Given the description of an element on the screen output the (x, y) to click on. 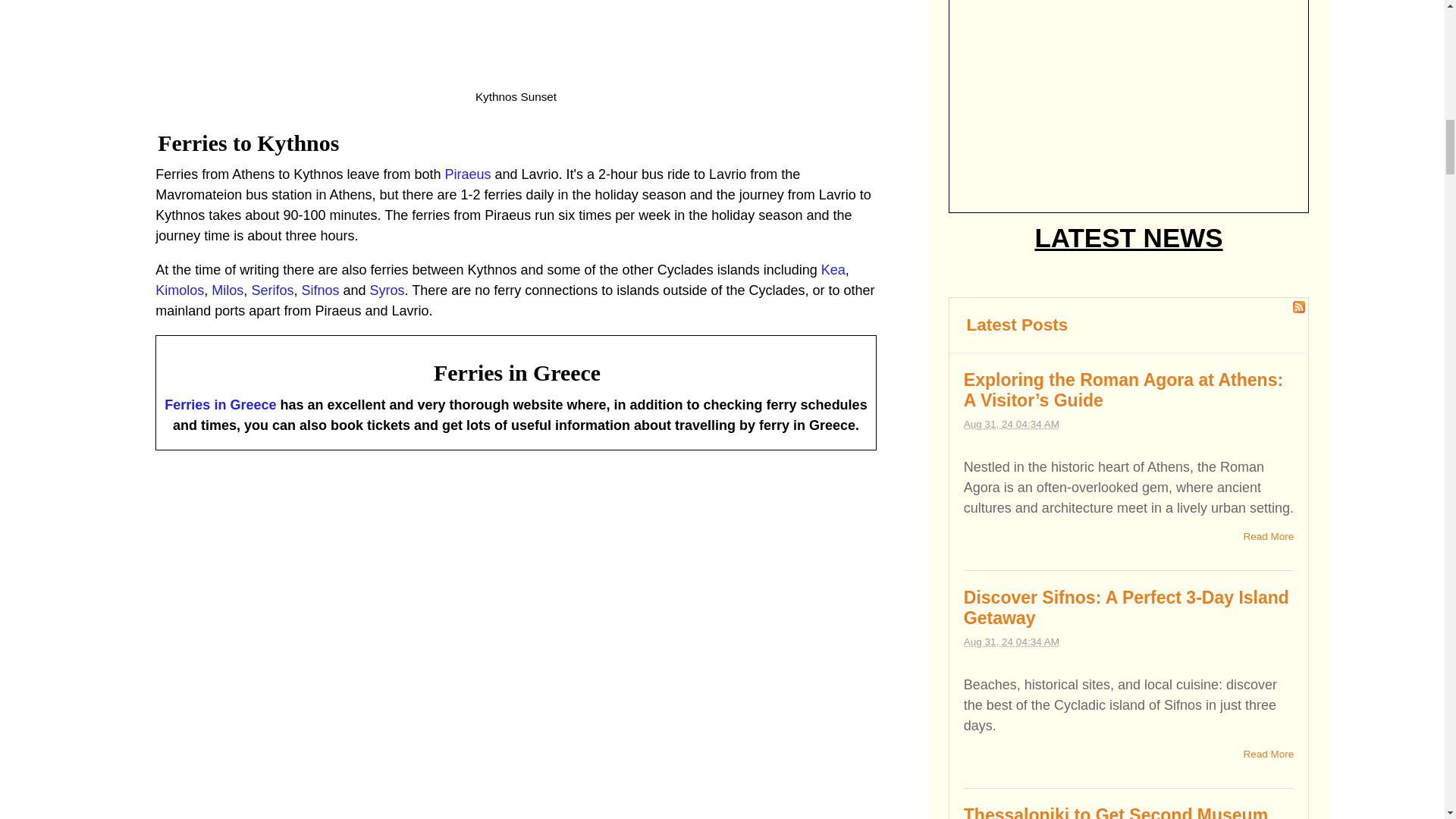
2024-08-31T04:34:37-0400 (1011, 641)
Kythnos in the Cyclades Islands of Greece (515, 41)
2024-08-31T04:34:37-0400 (1011, 423)
conversational-greek-for-travelers-cover.png (1128, 97)
